Given the description of an element on the screen output the (x, y) to click on. 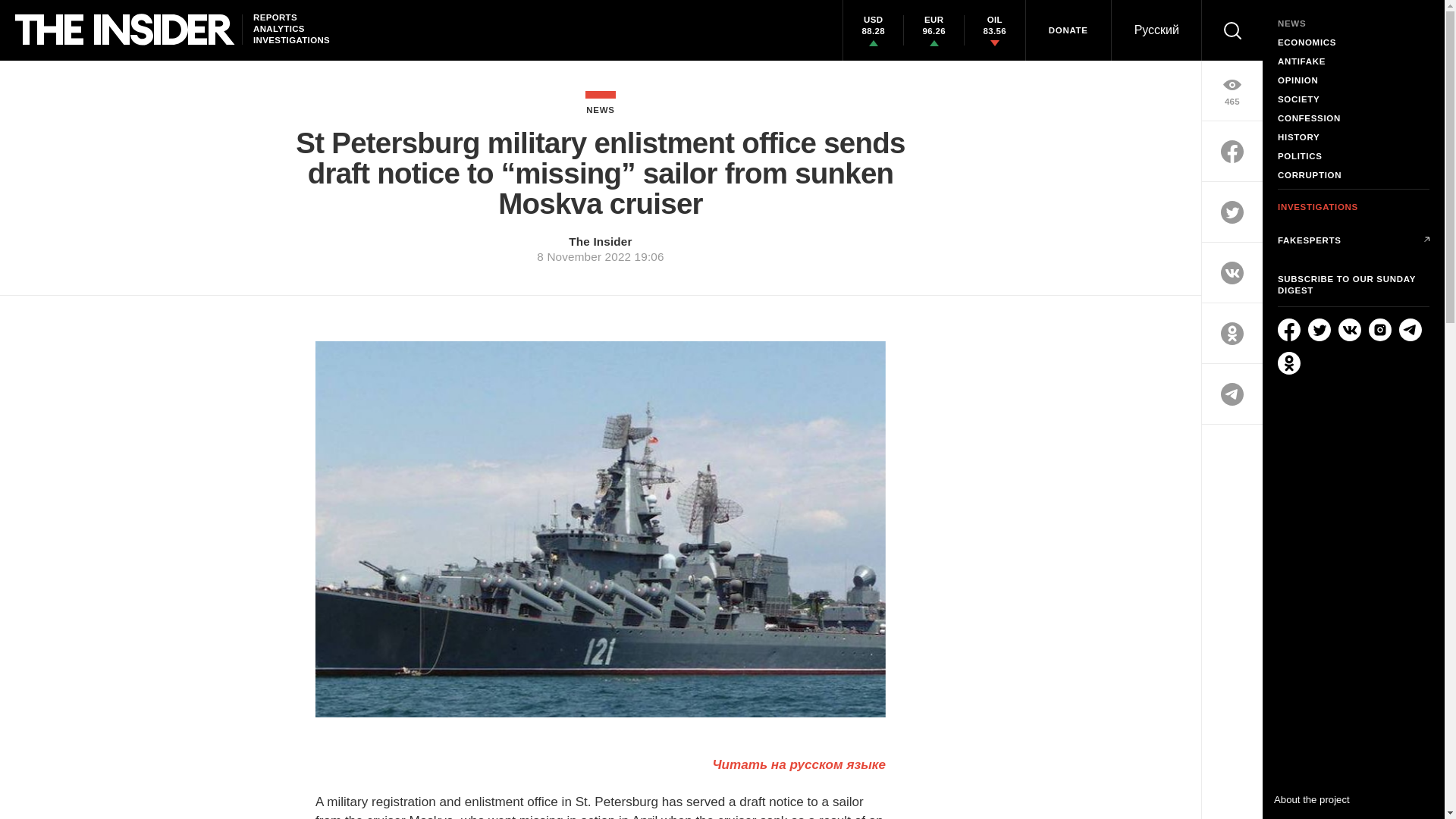
The Insider (600, 241)
ECONOMICS (1353, 42)
DONATE (1067, 30)
NEWS (1353, 23)
OPINION (1353, 80)
SOCIETY (1353, 99)
NEWS (600, 101)
ANTIFAKE (1353, 61)
